Given the description of an element on the screen output the (x, y) to click on. 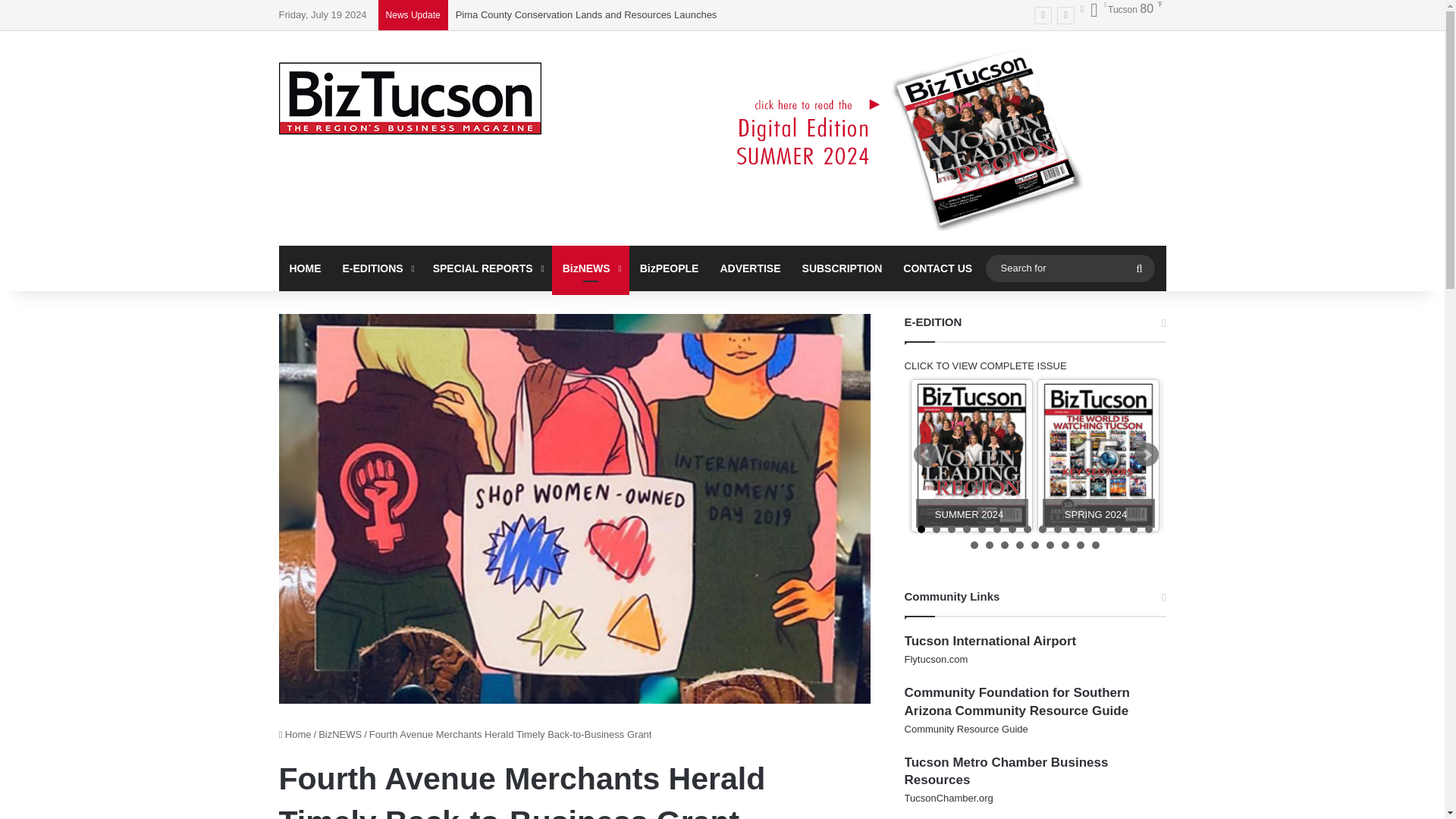
Scattered Clouds (1120, 9)
BizTUCSON (410, 99)
E-EDITIONS (376, 268)
HOME (305, 268)
Search for (1069, 267)
Pima County Conservation Lands and Resources Launches (586, 14)
